Given the description of an element on the screen output the (x, y) to click on. 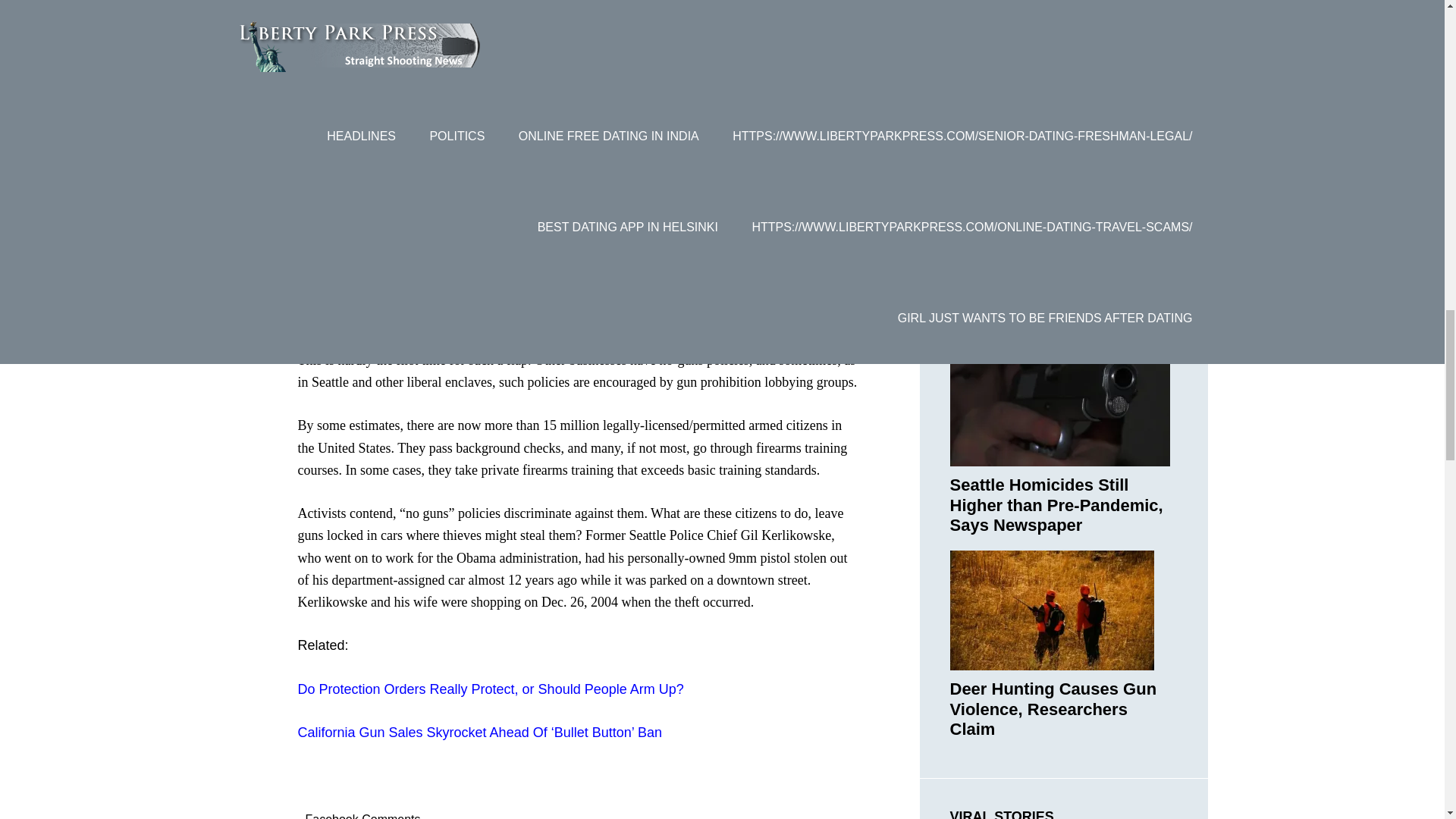
Facebook (380, 294)
